Given the description of an element on the screen output the (x, y) to click on. 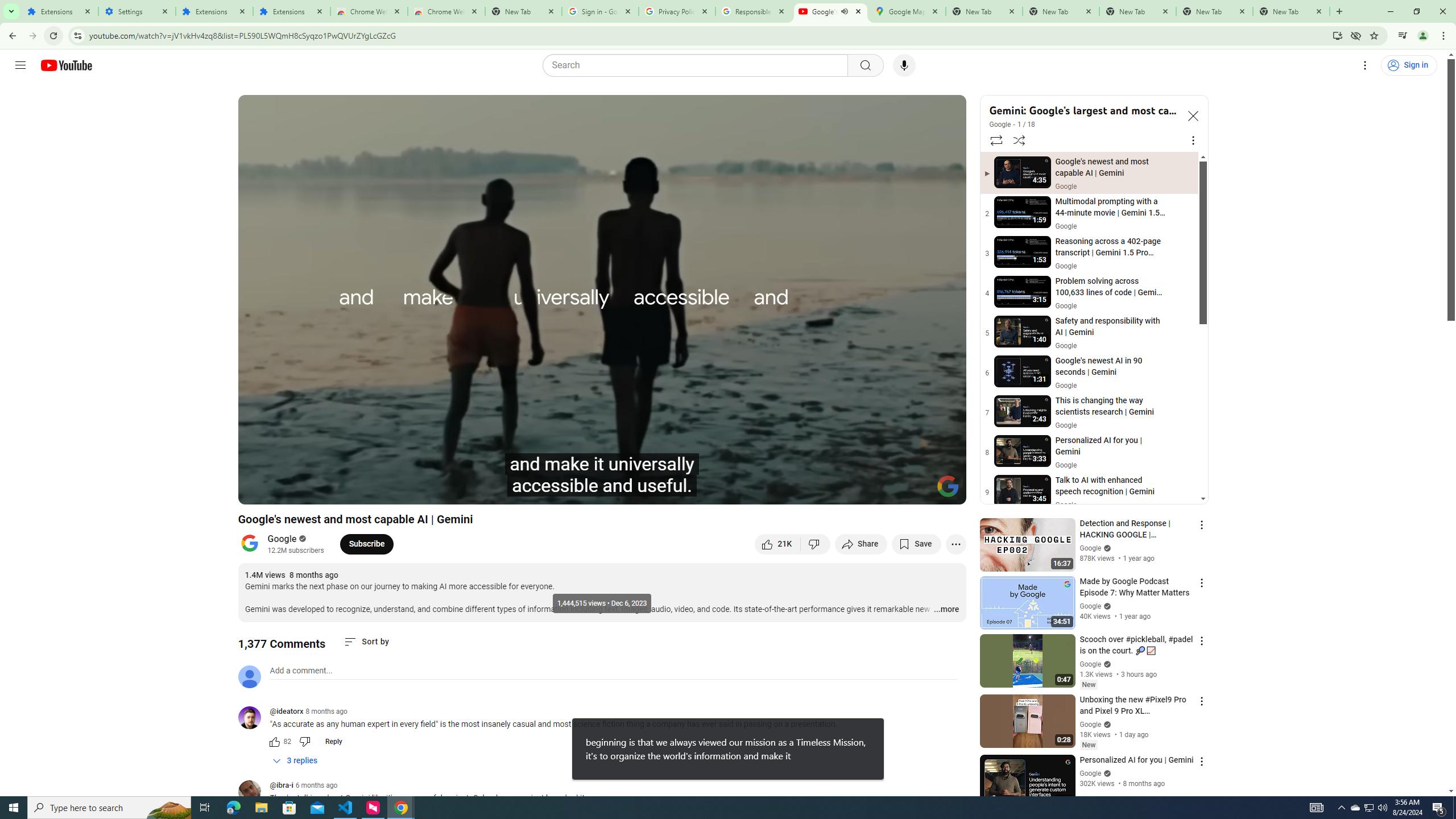
Default profile photo (248, 676)
Extensions (290, 11)
Collapse (1192, 115)
Seek slider (601, 476)
Next (SHIFT+n) (310, 490)
Like this comment along with 82 other people (273, 741)
Extensions (213, 11)
Miniplayer (i) (890, 490)
like this video along with 21,118 other people (777, 543)
